Given the description of an element on the screen output the (x, y) to click on. 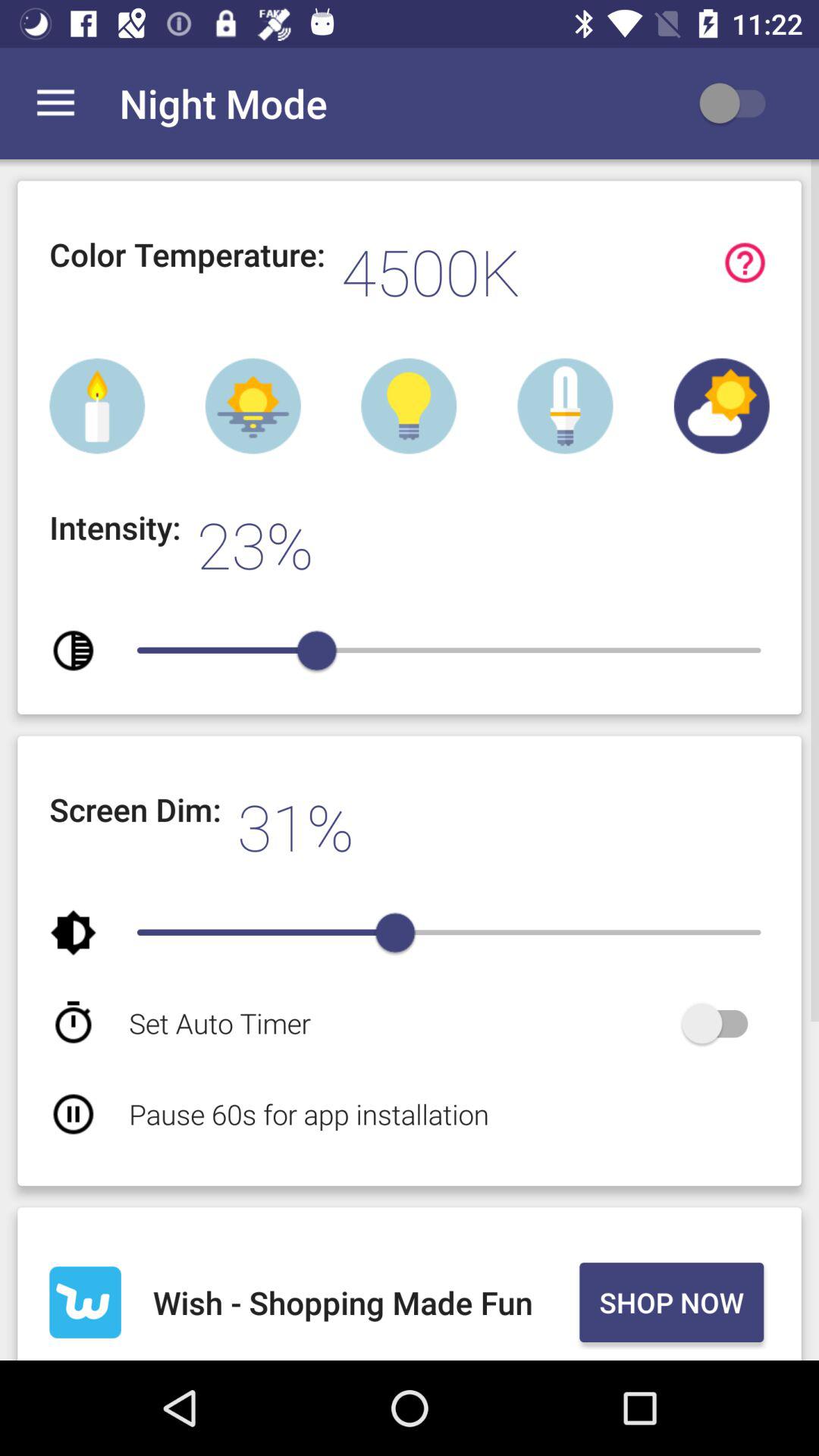
choose the item below the pause 60s for icon (362, 1302)
